Given the description of an element on the screen output the (x, y) to click on. 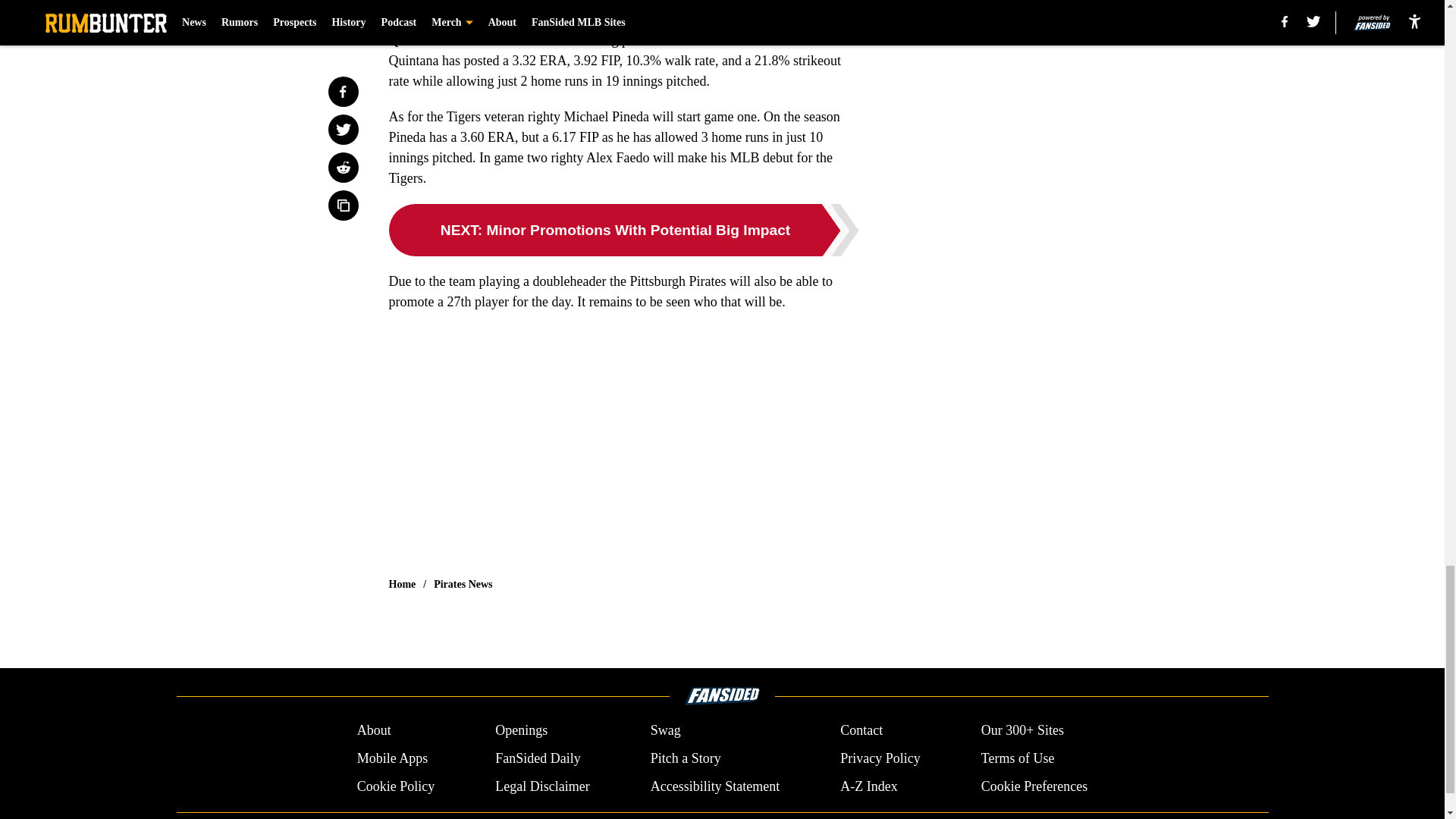
Pitch a Story (685, 758)
Mobile Apps (392, 758)
NEXT: Minor Promotions With Potential Big Impact (623, 229)
Swag (665, 730)
Pirates News (462, 584)
FanSided Daily (537, 758)
Contact (861, 730)
Home (401, 584)
Openings (521, 730)
Privacy Policy (880, 758)
About (373, 730)
